Given the description of an element on the screen output the (x, y) to click on. 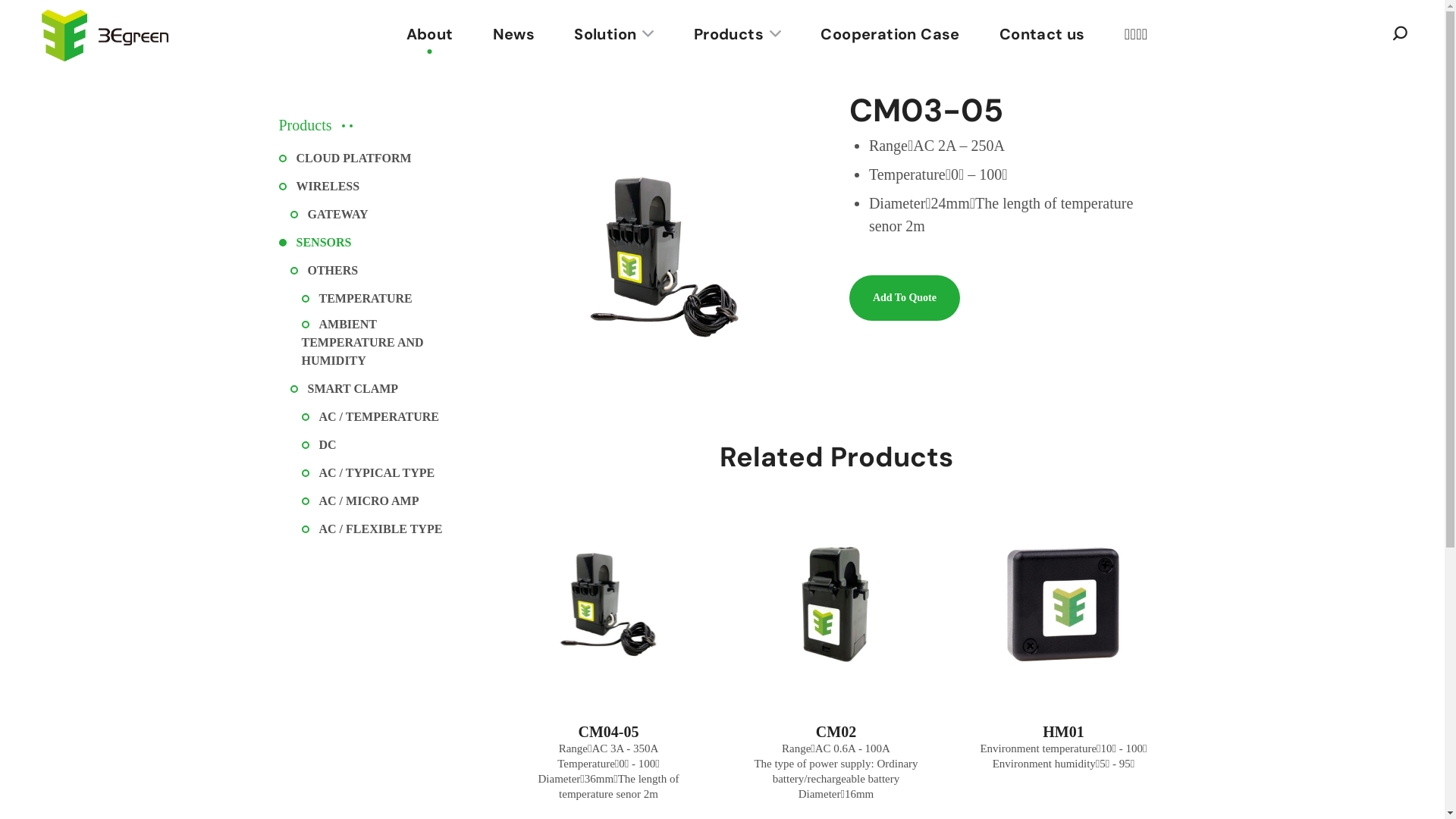
About Element type: text (429, 34)
GATEWAY Element type: text (328, 214)
DC Element type: text (318, 445)
Solution Element type: text (614, 34)
Products Element type: text (737, 34)
TEMPERATURE Element type: text (356, 298)
SMART CLAMP Element type: text (343, 388)
Cooperation Case Element type: text (889, 34)
3Egreen tech. Co. Ltd. Element type: hover (664, 256)
AC / FLEXIBLE TYPE Element type: text (371, 529)
CLOUD PLATFORM Element type: text (345, 158)
AC / TEMPERATURE Element type: text (370, 416)
Add To Quote Element type: text (904, 297)
WIRELESS Element type: text (319, 186)
AC / MICRO AMP Element type: text (360, 501)
News Element type: text (514, 34)
CM04-05 Element type: text (607, 731)
OTHERS Element type: text (323, 270)
SENSORS Element type: text (315, 242)
AC / TYPICAL TYPE Element type: text (368, 473)
HM01 Element type: text (1062, 731)
Contact us Element type: text (1041, 34)
CM02 Element type: text (835, 731)
AMBIENT TEMPERATURE AND HUMIDITY Element type: text (375, 342)
